Given the description of an element on the screen output the (x, y) to click on. 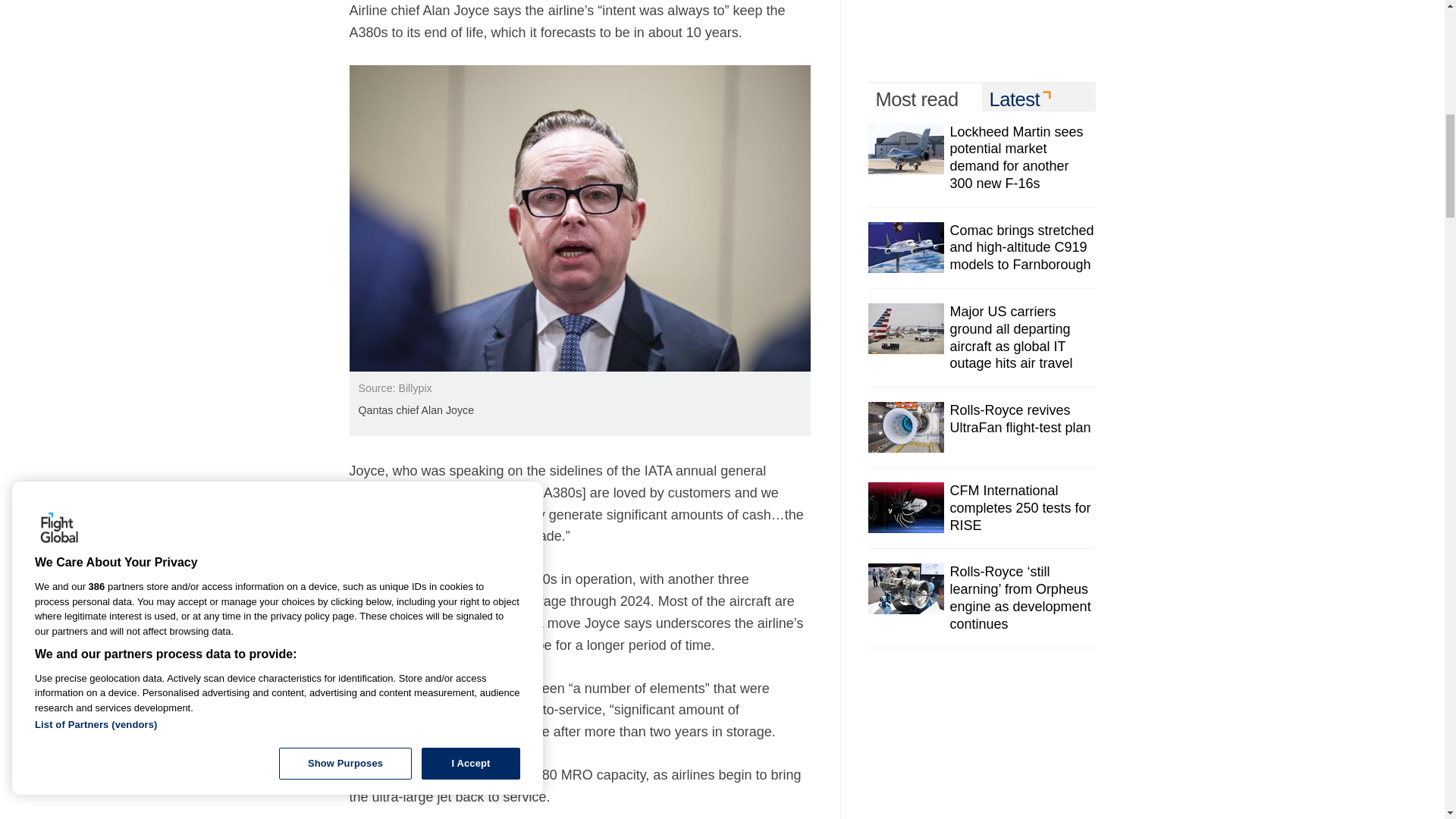
3rd party ad content (980, 22)
